Given the description of an element on the screen output the (x, y) to click on. 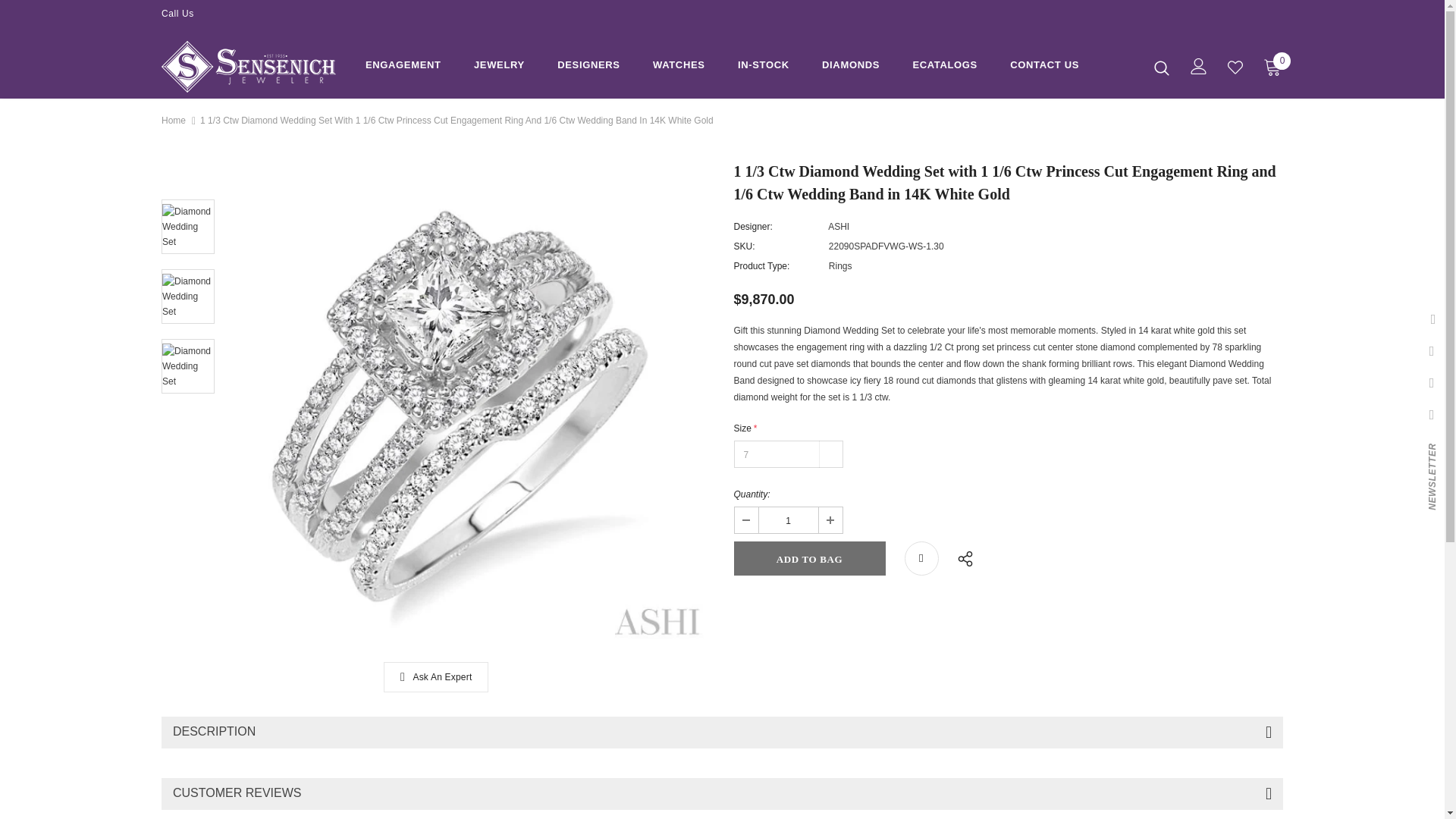
ECATALOGS (944, 67)
CONTACT US (1044, 67)
DESIGNERS (588, 67)
WATCHES (678, 67)
Add to Bag (809, 558)
JEWELRY (499, 67)
ENGAGEMENT (403, 67)
DIAMONDS (850, 67)
IN-STOCK (763, 67)
1 (787, 519)
